Given the description of an element on the screen output the (x, y) to click on. 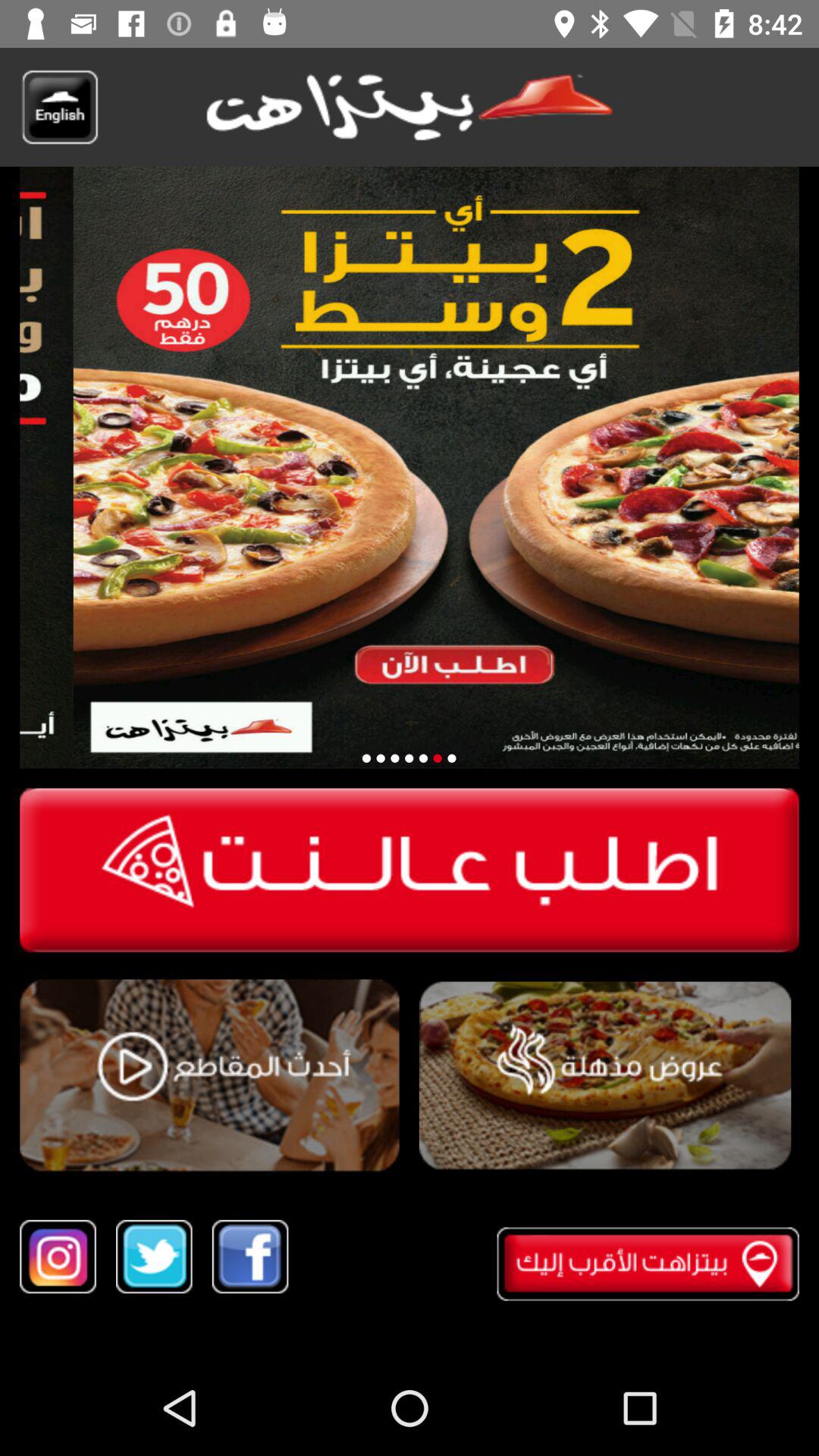
share on facebook (250, 1256)
